Given the description of an element on the screen output the (x, y) to click on. 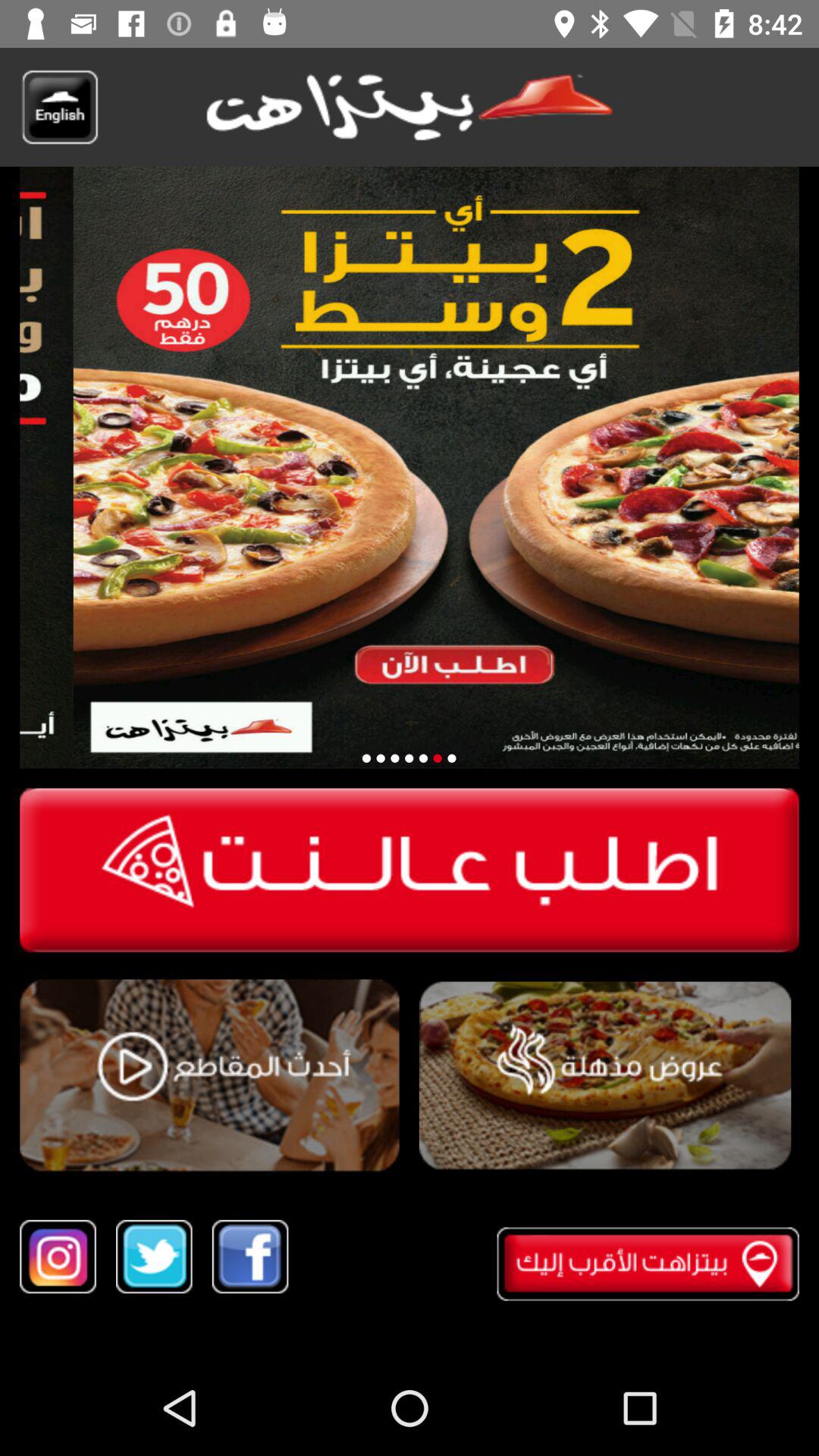
share on facebook (250, 1256)
